Given the description of an element on the screen output the (x, y) to click on. 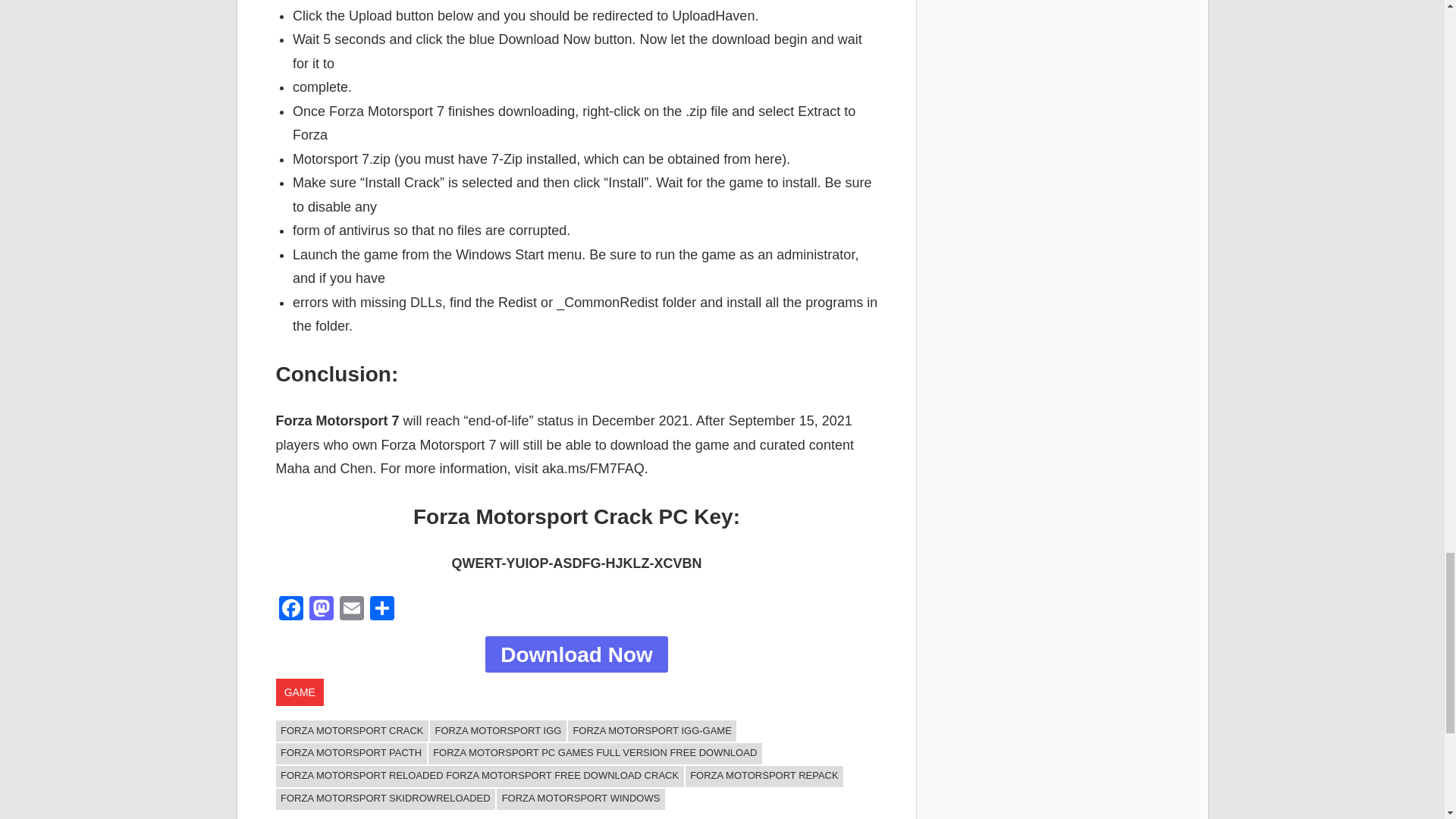
FORZA MOTORSPORT WINDOWS (580, 798)
FORZA MOTORSPORT CRACK (352, 731)
Email (351, 610)
FORZA MOTORSPORT IGG-GAME (651, 731)
FORZA MOTORSPORT PC GAMES FULL VERSION FREE DOWNLOAD (594, 753)
Mastodon (320, 610)
FORZA MOTORSPORT IGG (497, 731)
FORZA MOTORSPORT SKIDROWRELOADED (386, 798)
Facebook (290, 610)
FORZA MOTORSPORT REPACK (764, 776)
GAME (300, 691)
Mastodon (320, 610)
Download Now (576, 654)
FORZA MOTORSPORT PACTH (351, 753)
